Given the description of an element on the screen output the (x, y) to click on. 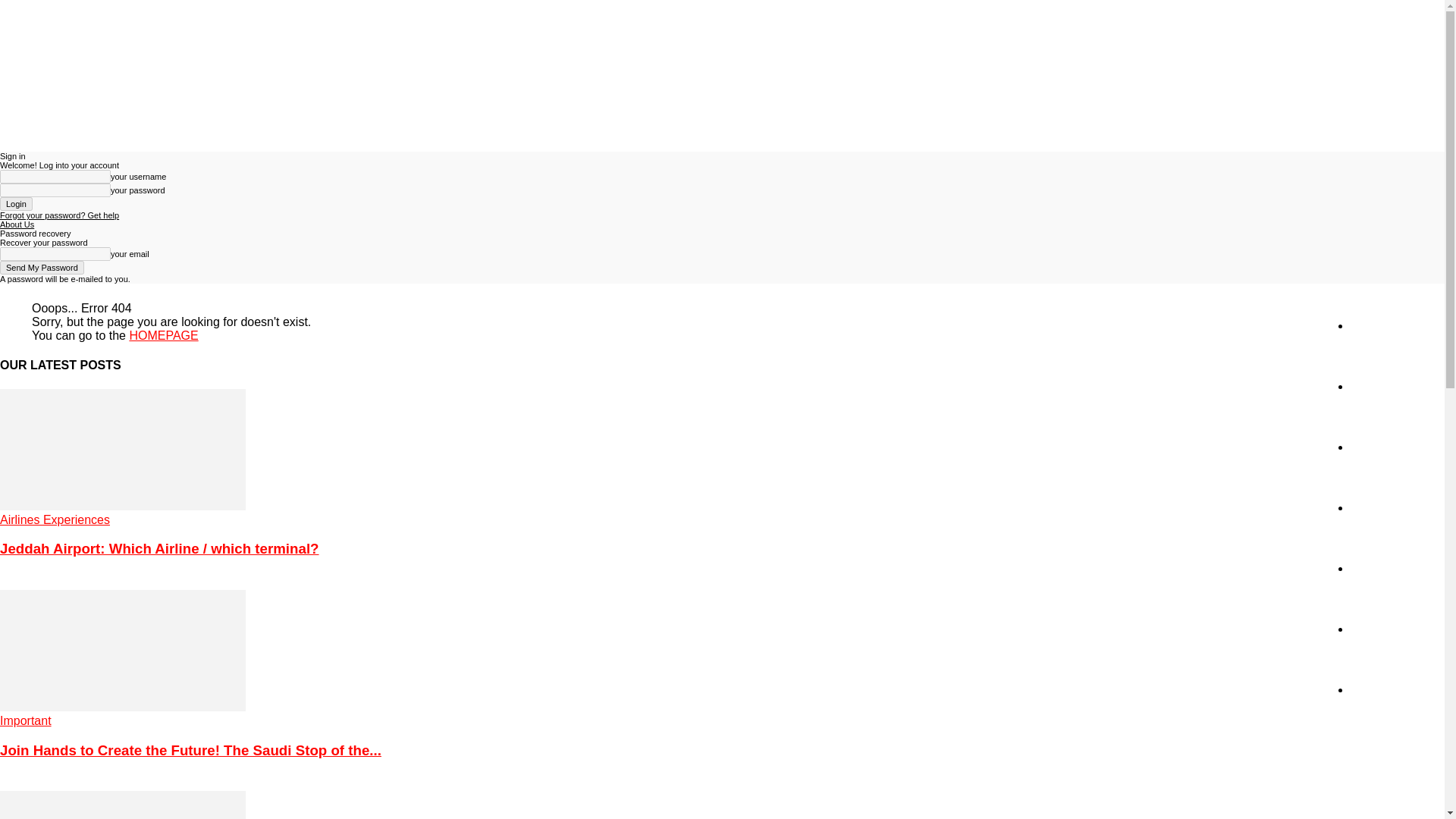
Driving in KSA (1388, 567)
Airlines Experiences (55, 519)
Latest News (1382, 386)
Send My Password (42, 267)
HOMEPAGE (163, 335)
Important (25, 720)
About Us (16, 224)
About Us (1374, 689)
Forgot your password? Get help (59, 215)
Saudi Laws (1380, 507)
